Given the description of an element on the screen output the (x, y) to click on. 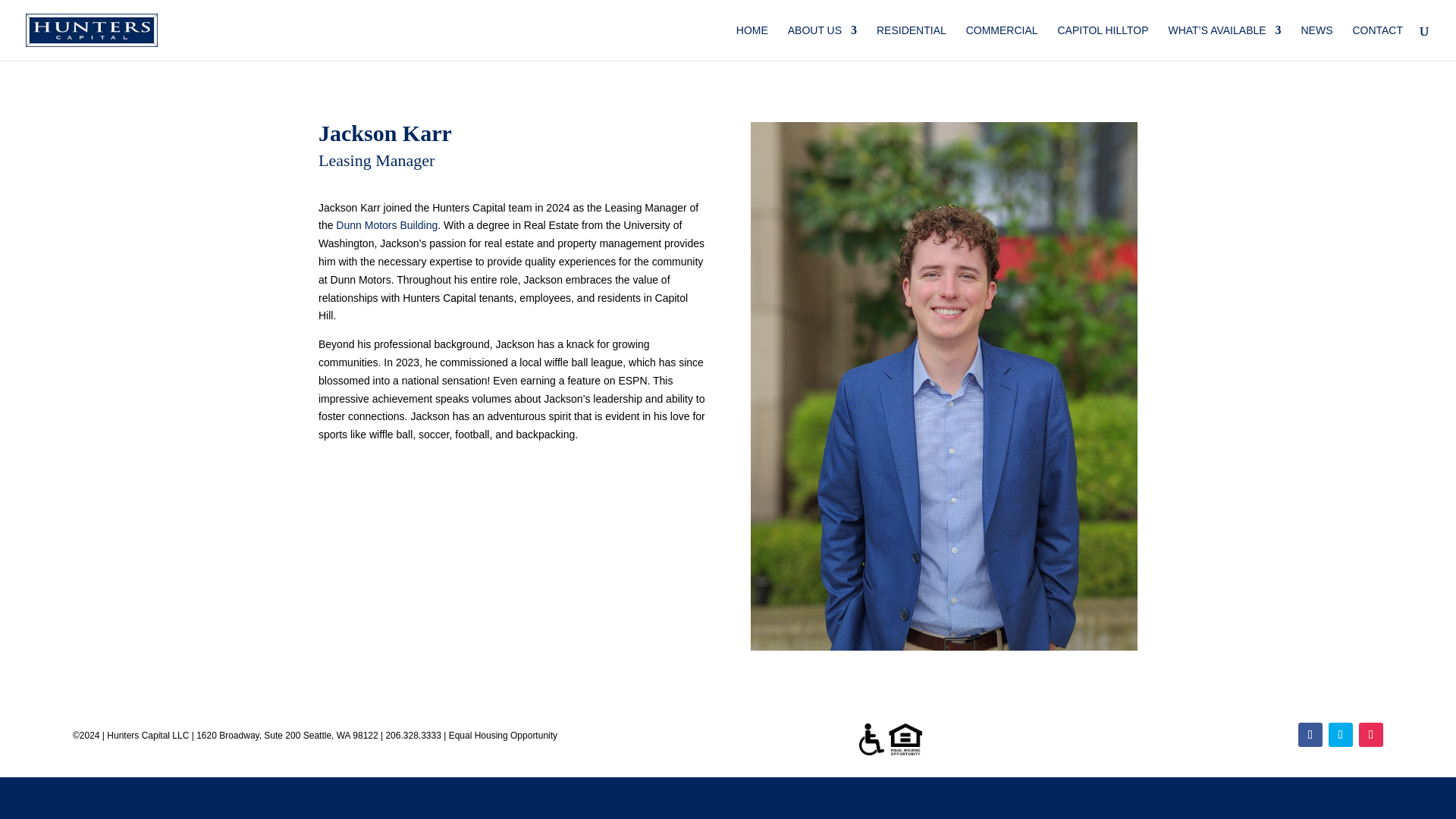
CAPITOL HILLTOP (1102, 42)
RESIDENTIAL (911, 42)
COMMERCIAL (1002, 42)
ABOUT US (822, 42)
Dunn Motors Building (387, 224)
CONTACT (1377, 42)
6130b8c019b055000483bbaf (890, 739)
HOME (752, 42)
Follow on Twitter (1339, 734)
Follow on Facebook (1310, 734)
